Given the description of an element on the screen output the (x, y) to click on. 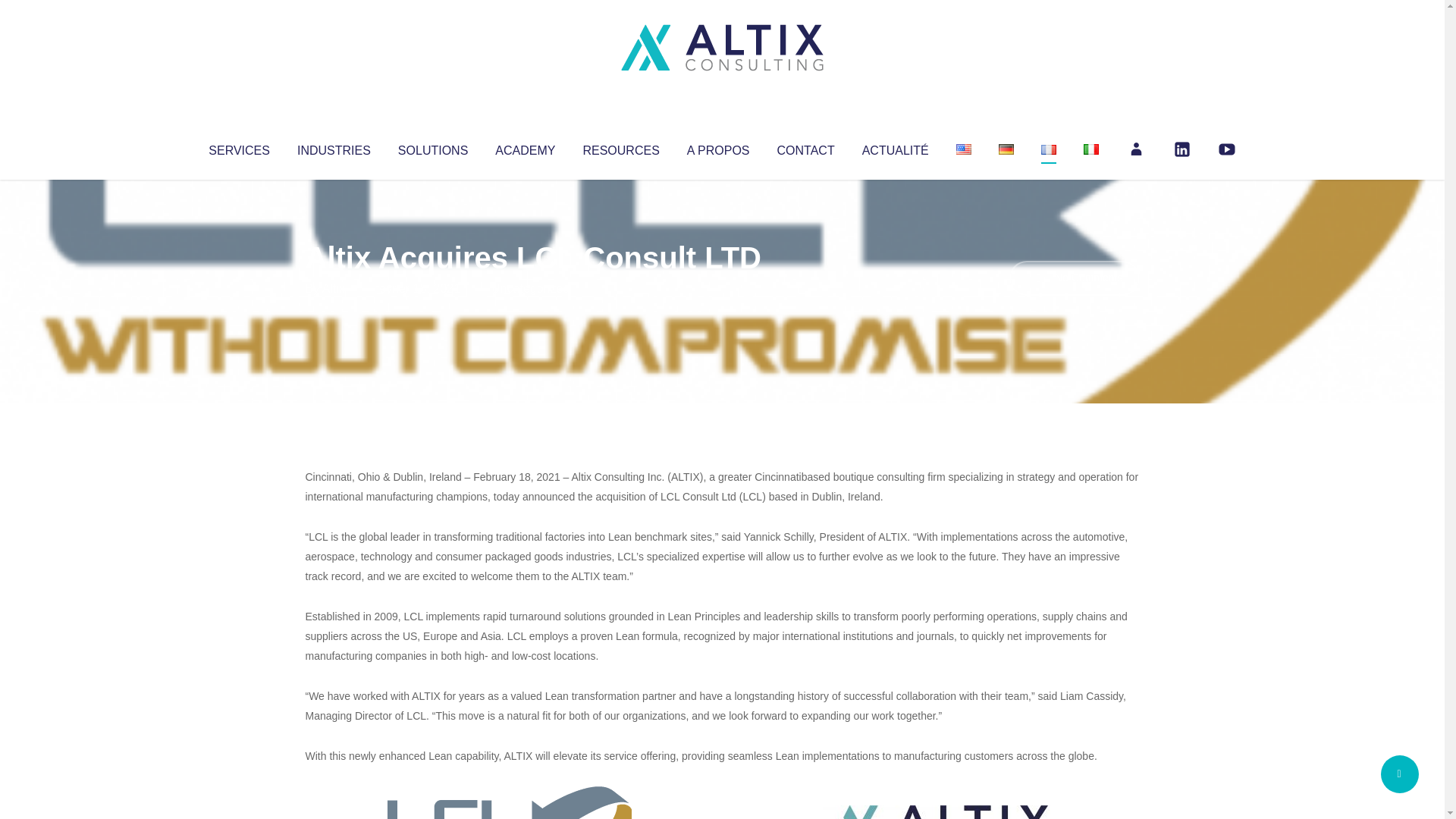
INDUSTRIES (334, 146)
Articles par Altix (333, 287)
SERVICES (238, 146)
RESOURCES (620, 146)
No Comments (1073, 278)
ACADEMY (524, 146)
Altix (333, 287)
Uncategorized (530, 287)
A PROPOS (718, 146)
SOLUTIONS (432, 146)
